Given the description of an element on the screen output the (x, y) to click on. 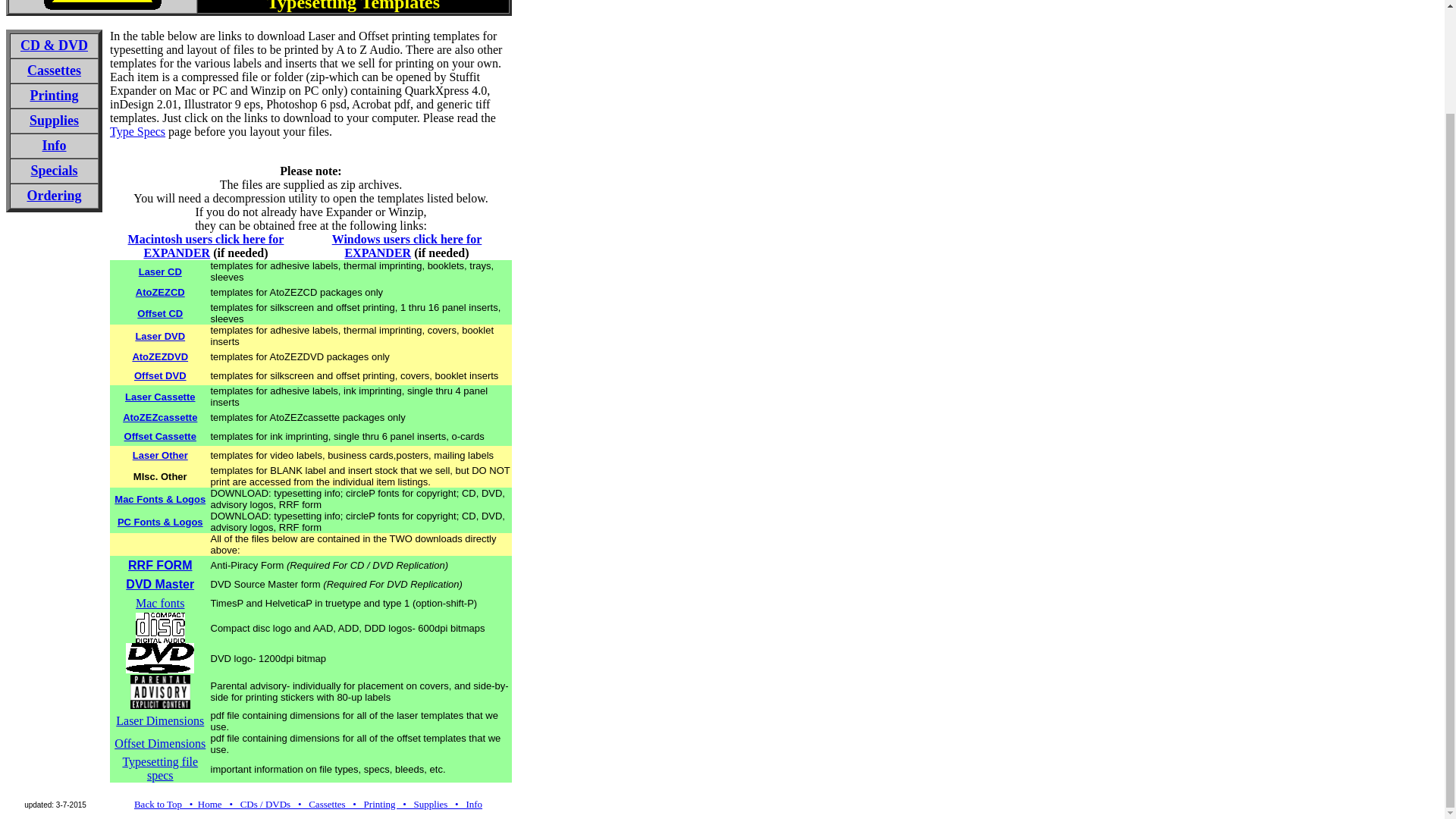
Offset Cassette (159, 436)
AtoZEZDVD (159, 356)
Offset CD (159, 312)
Typesetting file specs (160, 768)
Laser Other (159, 455)
Ordering (54, 195)
Specials (53, 170)
Laser Dimensions (159, 720)
Laser CD (160, 271)
RRF FORM (160, 565)
